Given the description of an element on the screen output the (x, y) to click on. 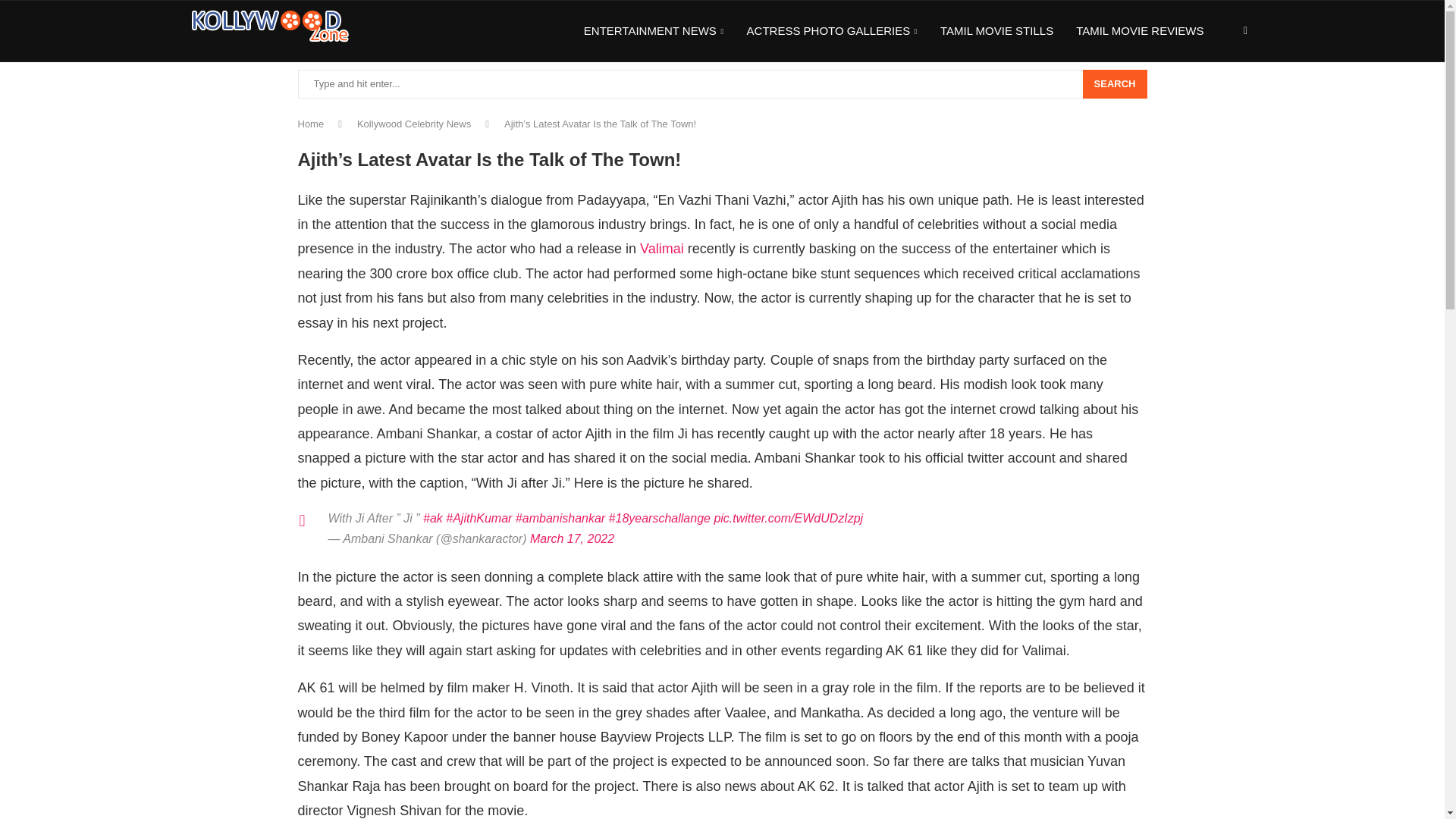
TAMIL MOVIE STILLS (996, 30)
SEARCH (1115, 83)
March 17, 2022 (571, 538)
ENTERTAINMENT NEWS (653, 31)
ACTRESS PHOTO GALLERIES (831, 31)
TAMIL MOVIE REVIEWS (1139, 30)
Kollywood Celebrity News (413, 123)
Valimai (662, 248)
Home (310, 123)
